Given the description of an element on the screen output the (x, y) to click on. 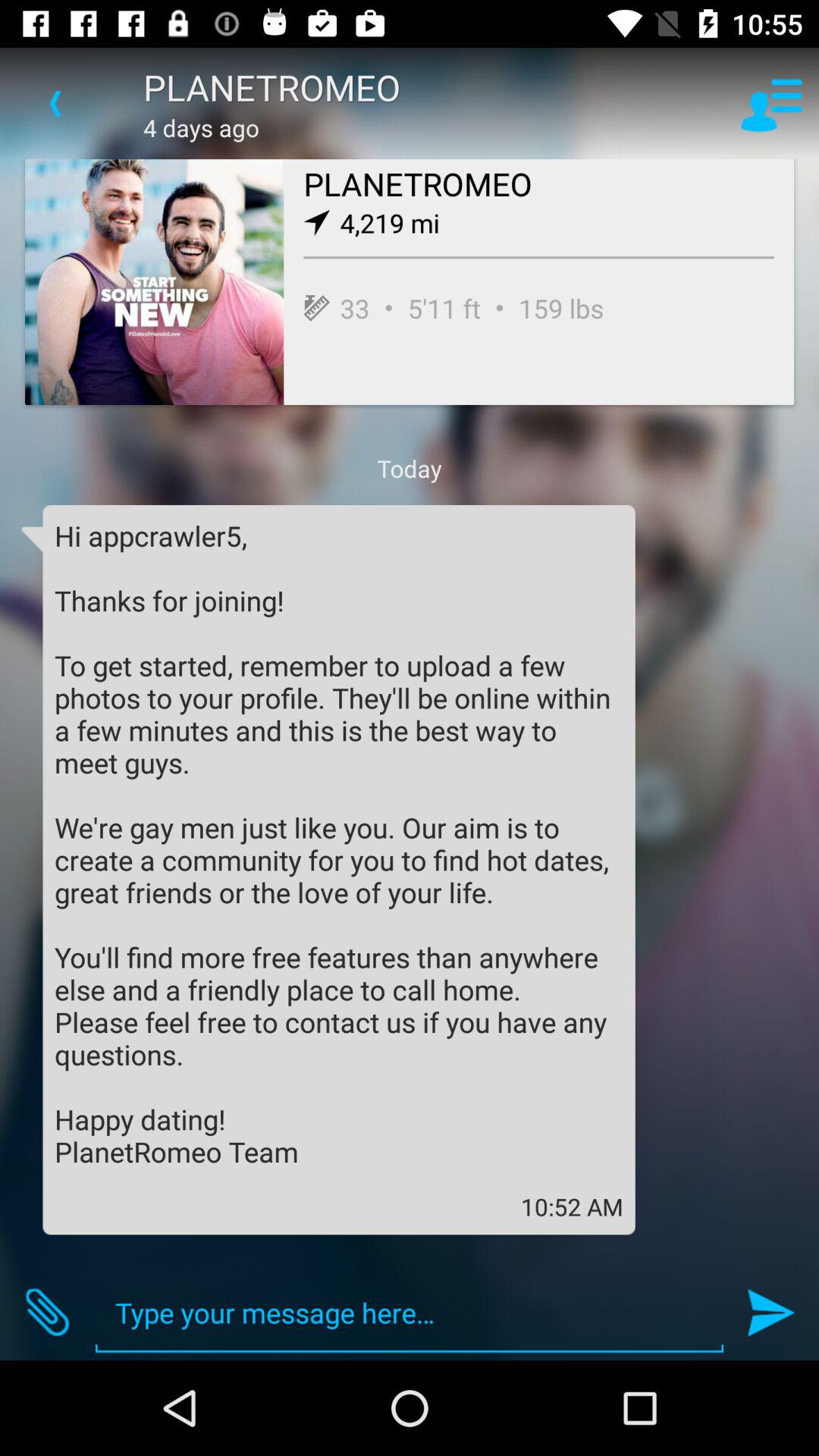
choose item to the right of planetromeo icon (771, 103)
